Given the description of an element on the screen output the (x, y) to click on. 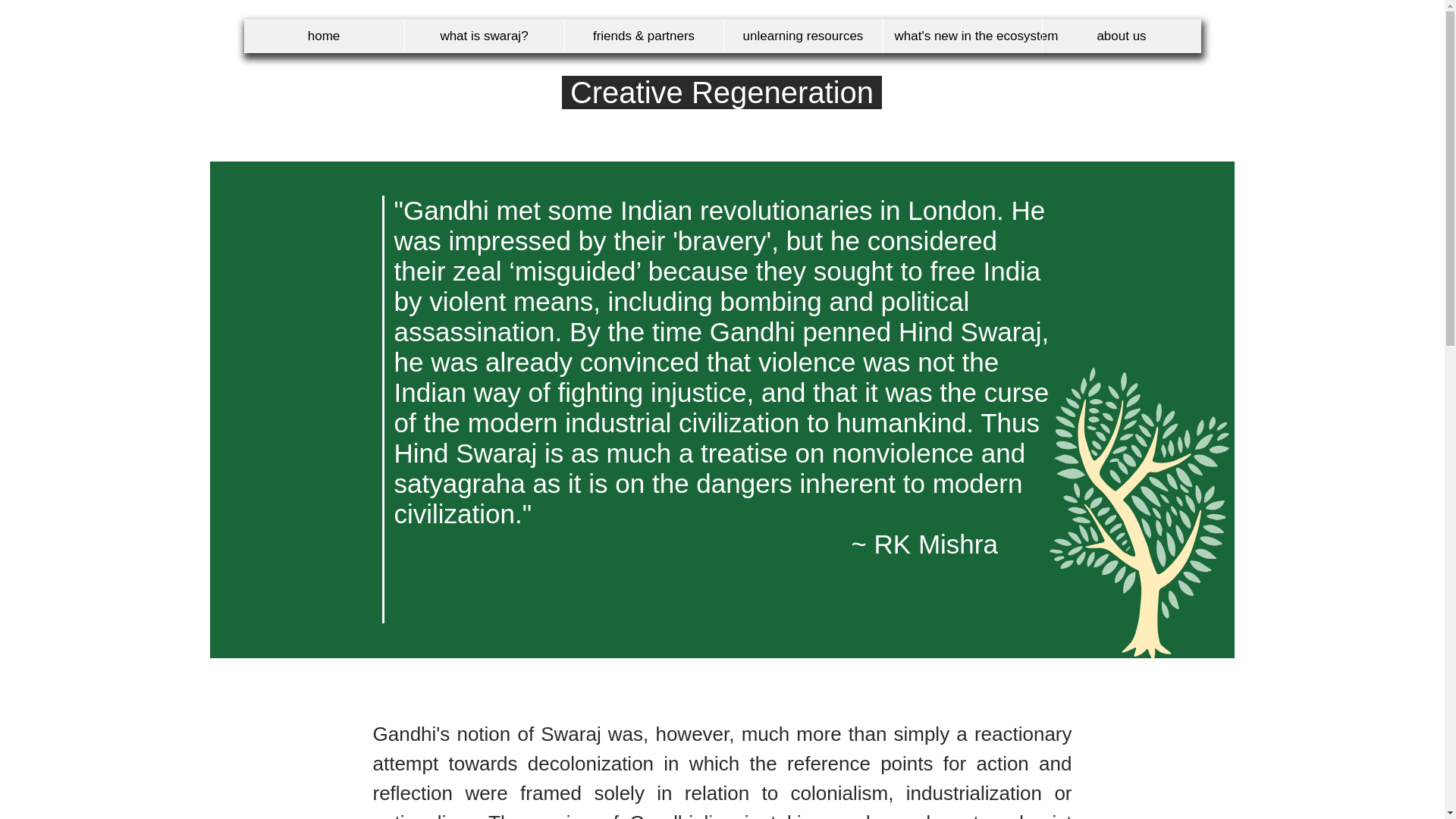
what is swaraj? (483, 35)
about us (1121, 35)
unlearning resources (802, 35)
what's new in the ecosystem (962, 35)
home (324, 35)
